Given the description of an element on the screen output the (x, y) to click on. 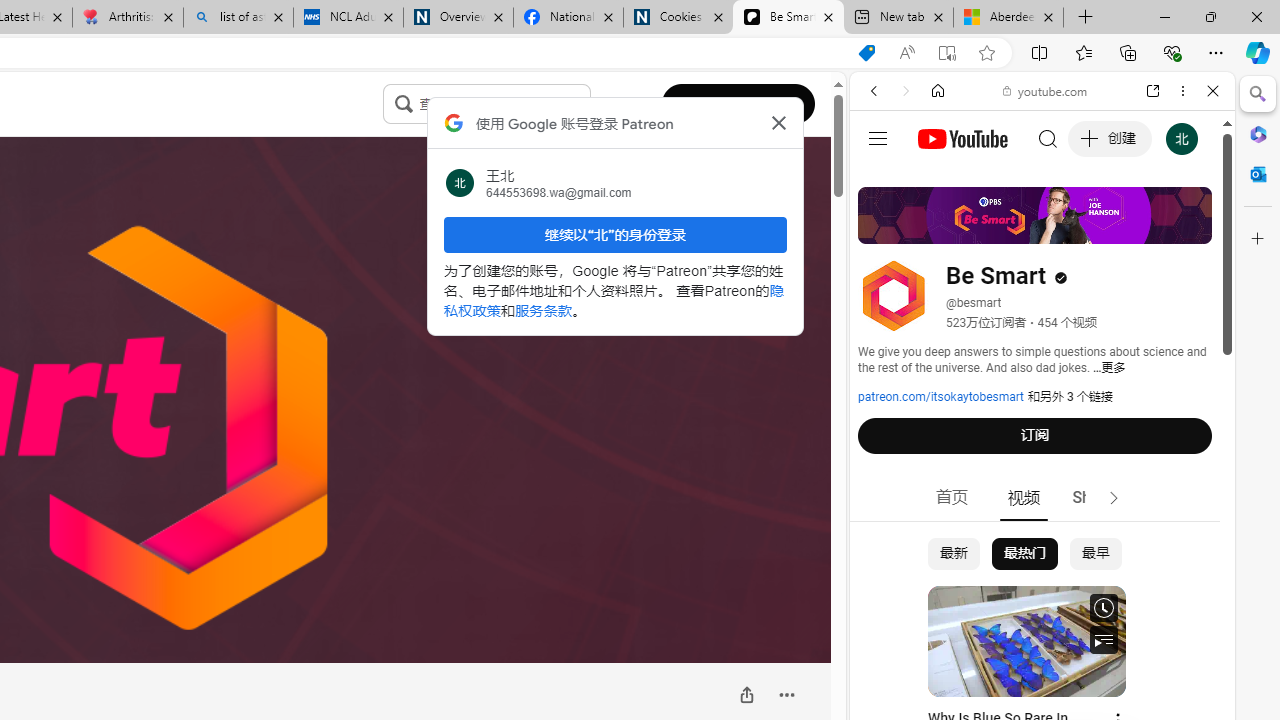
Search videos from youtube.com (1005, 657)
Class: sc-jrQzAO inFiZu (403, 103)
